Given the description of an element on the screen output the (x, y) to click on. 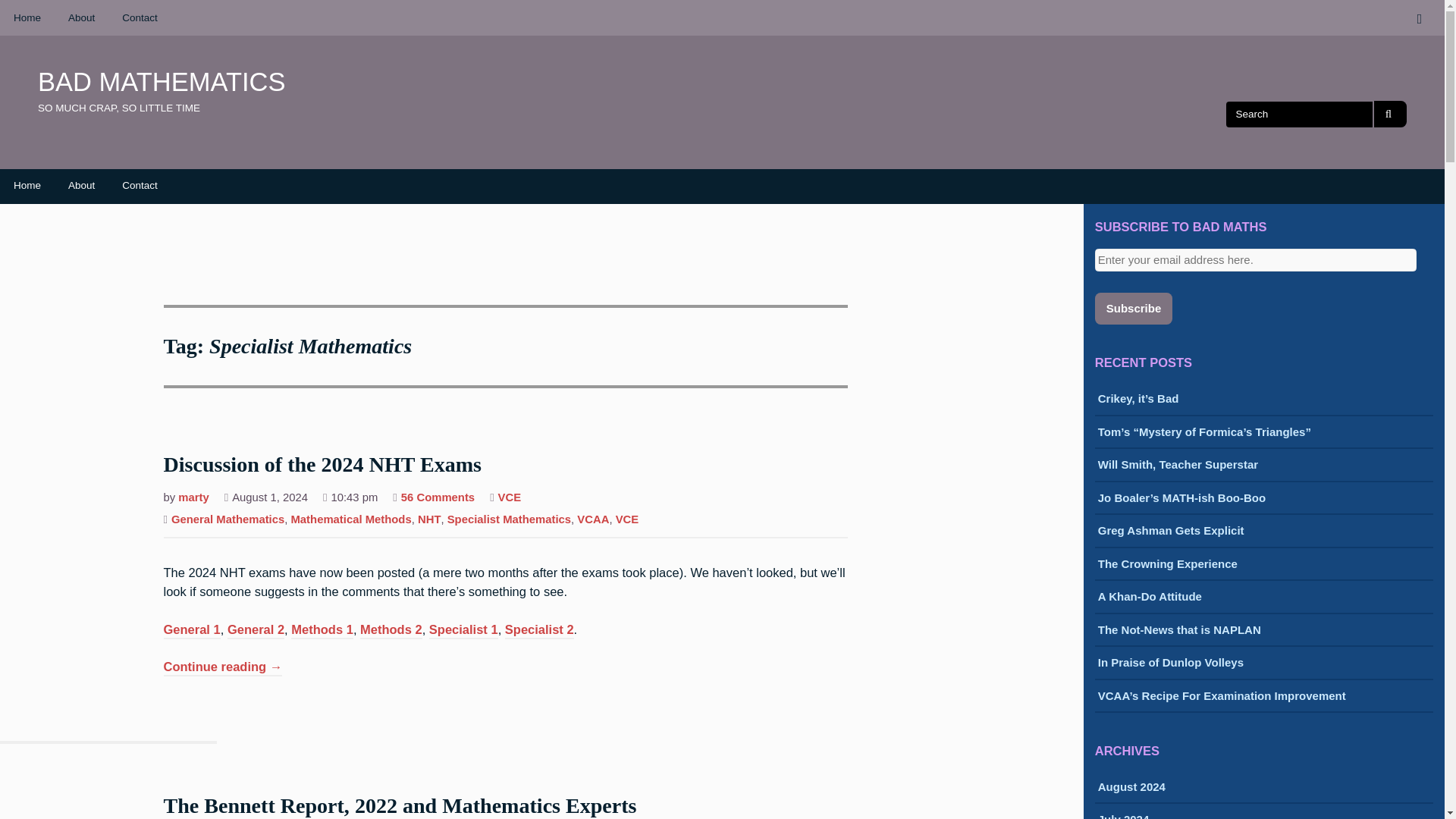
Home (27, 185)
marty (192, 498)
Home (27, 18)
Posts by marty (192, 498)
VCE (627, 520)
Discussion of the 2024 NHT Exams (322, 465)
Contact (139, 185)
Contact (139, 18)
Specialist Mathematics (508, 520)
General 2 (255, 630)
